Given the description of an element on the screen output the (x, y) to click on. 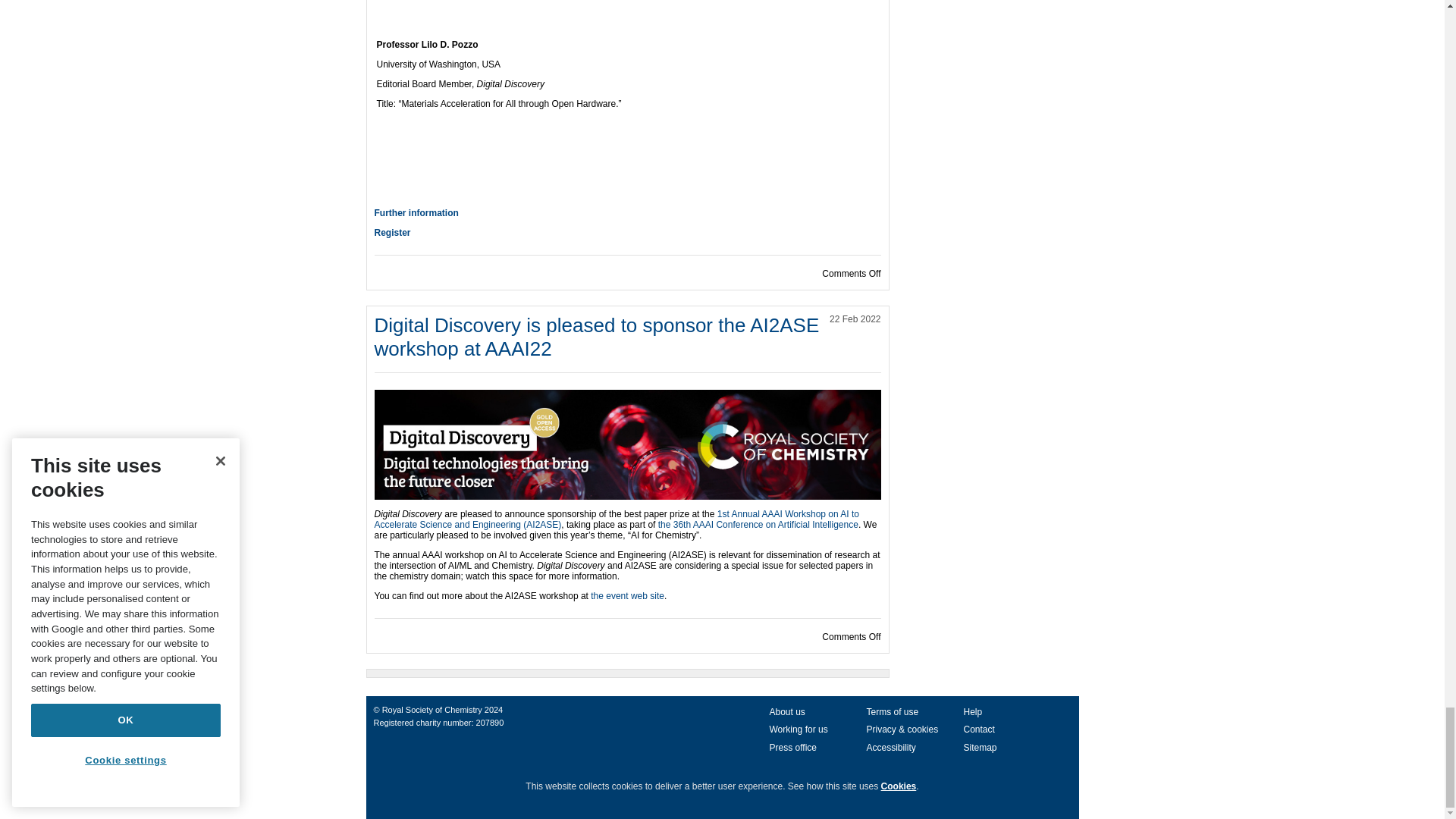
Further information (416, 213)
the event web site (627, 595)
Register (392, 232)
the 36th AAAI Conference on Artificial Intelligence (758, 524)
